Given the description of an element on the screen output the (x, y) to click on. 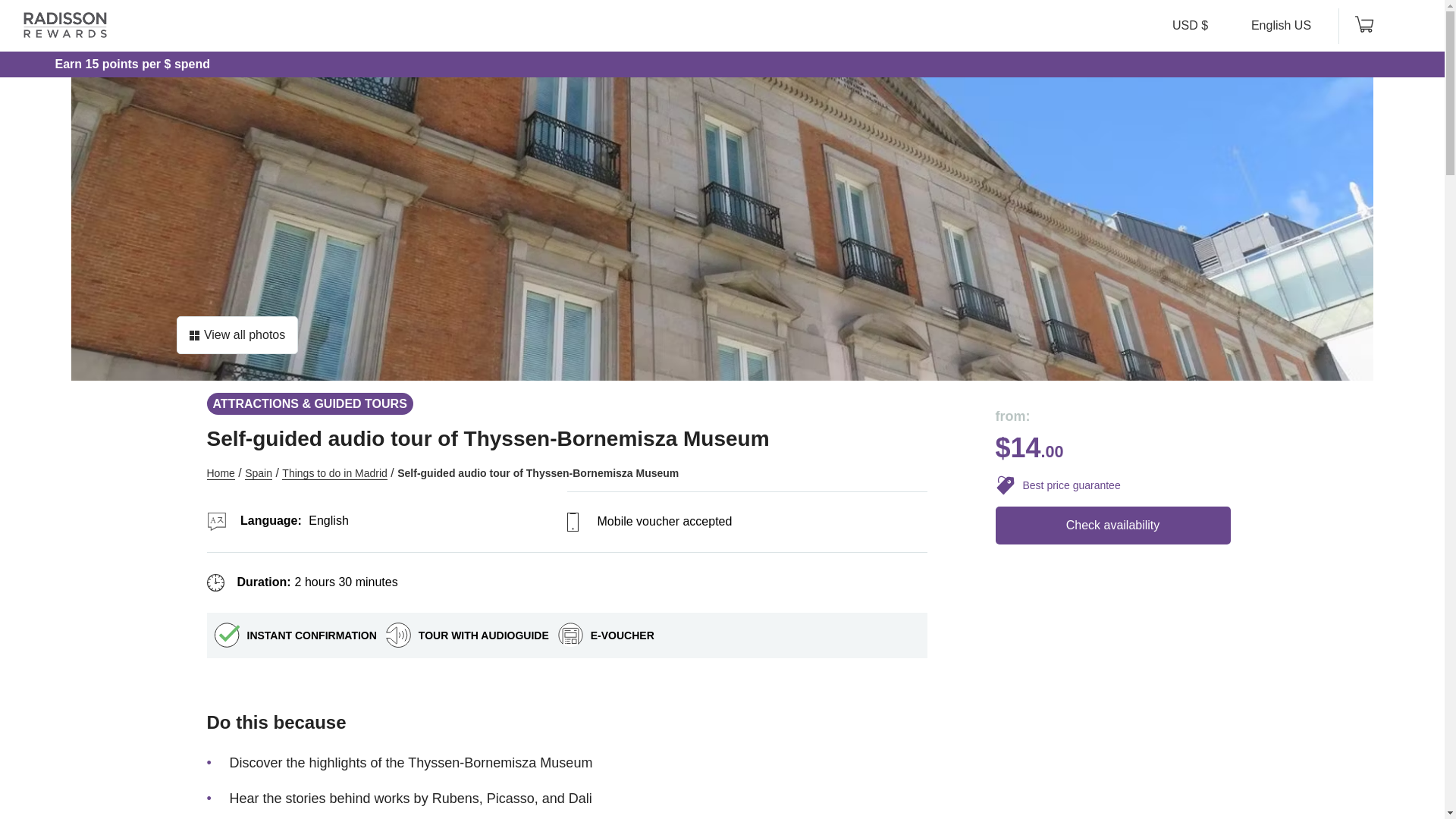
Home (220, 472)
View all photos (237, 334)
Spain (258, 472)
Check availability (1112, 525)
Things to do in Madrid (334, 472)
